Given the description of an element on the screen output the (x, y) to click on. 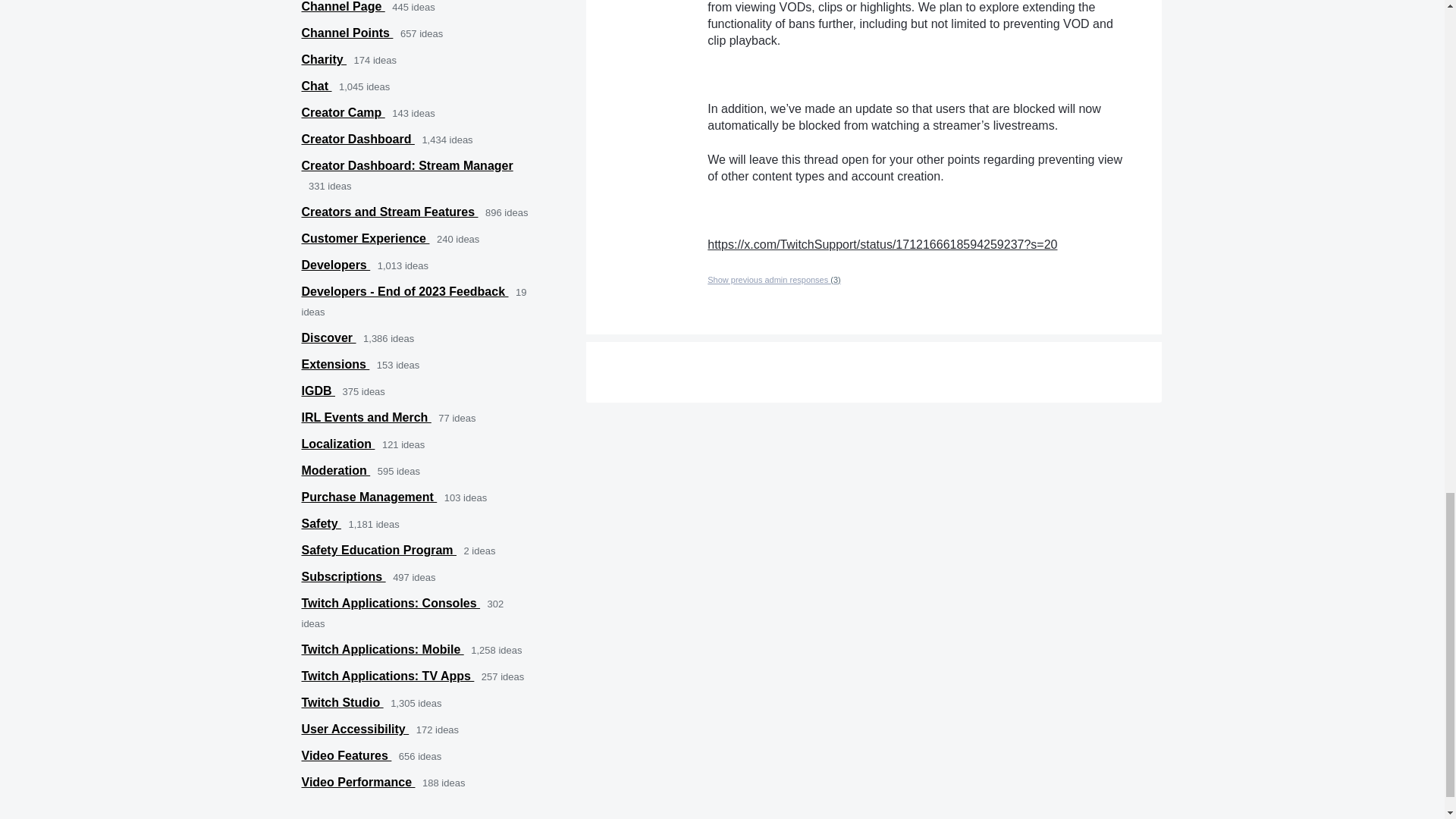
Charity (324, 59)
Channel Points (347, 32)
Creators and Stream Features (390, 211)
Creator Camp (343, 112)
Creator Dashboard (357, 138)
Creator Dashboard: Stream Manager (407, 164)
Channel Page (343, 6)
Chat (316, 85)
Customer Experience (365, 237)
